Given the description of an element on the screen output the (x, y) to click on. 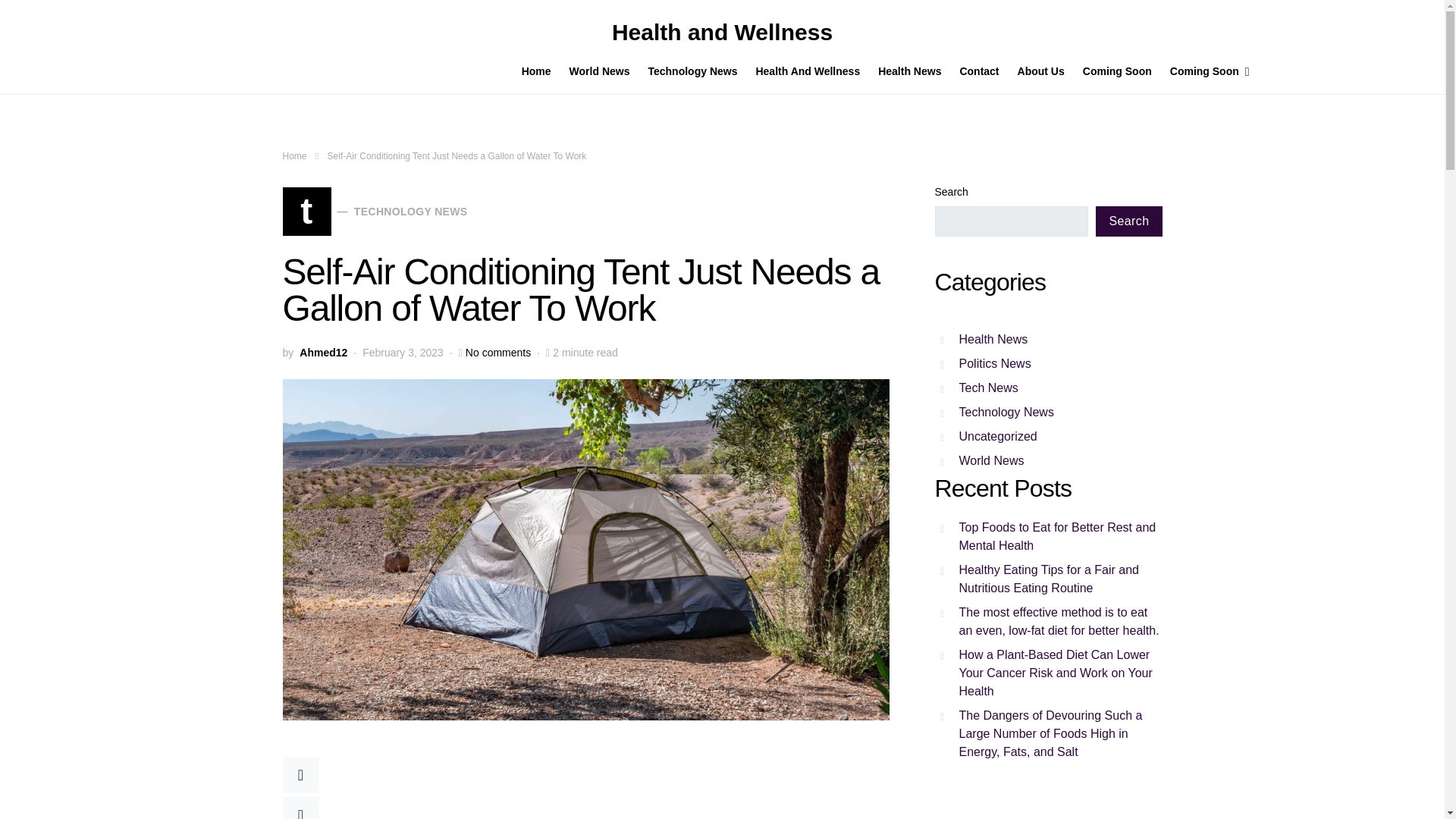
About Us (1041, 71)
Technology News (692, 71)
Contact (978, 71)
Health and Wellness (721, 32)
Health News (909, 71)
Coming Soon (1199, 71)
Health And Wellness (807, 71)
View all posts by Ahmed12 (323, 352)
No comments (498, 352)
Ahmed12 (323, 352)
